Given the description of an element on the screen output the (x, y) to click on. 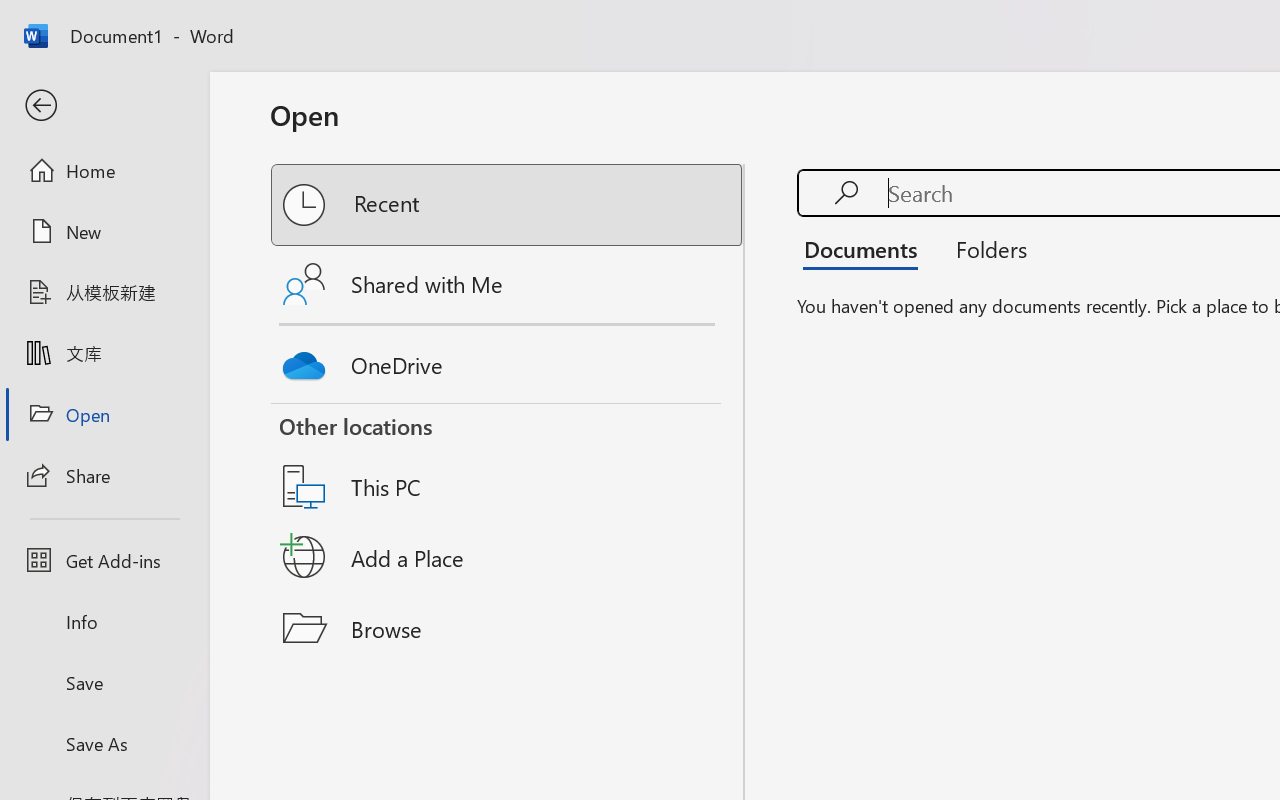
OneDrive (507, 359)
Save As (104, 743)
Add a Place (507, 557)
Recent (507, 205)
This PC (507, 461)
Back (104, 106)
New (104, 231)
Shared with Me (507, 283)
Get Add-ins (104, 560)
Documents (866, 248)
Info (104, 621)
